Given the description of an element on the screen output the (x, y) to click on. 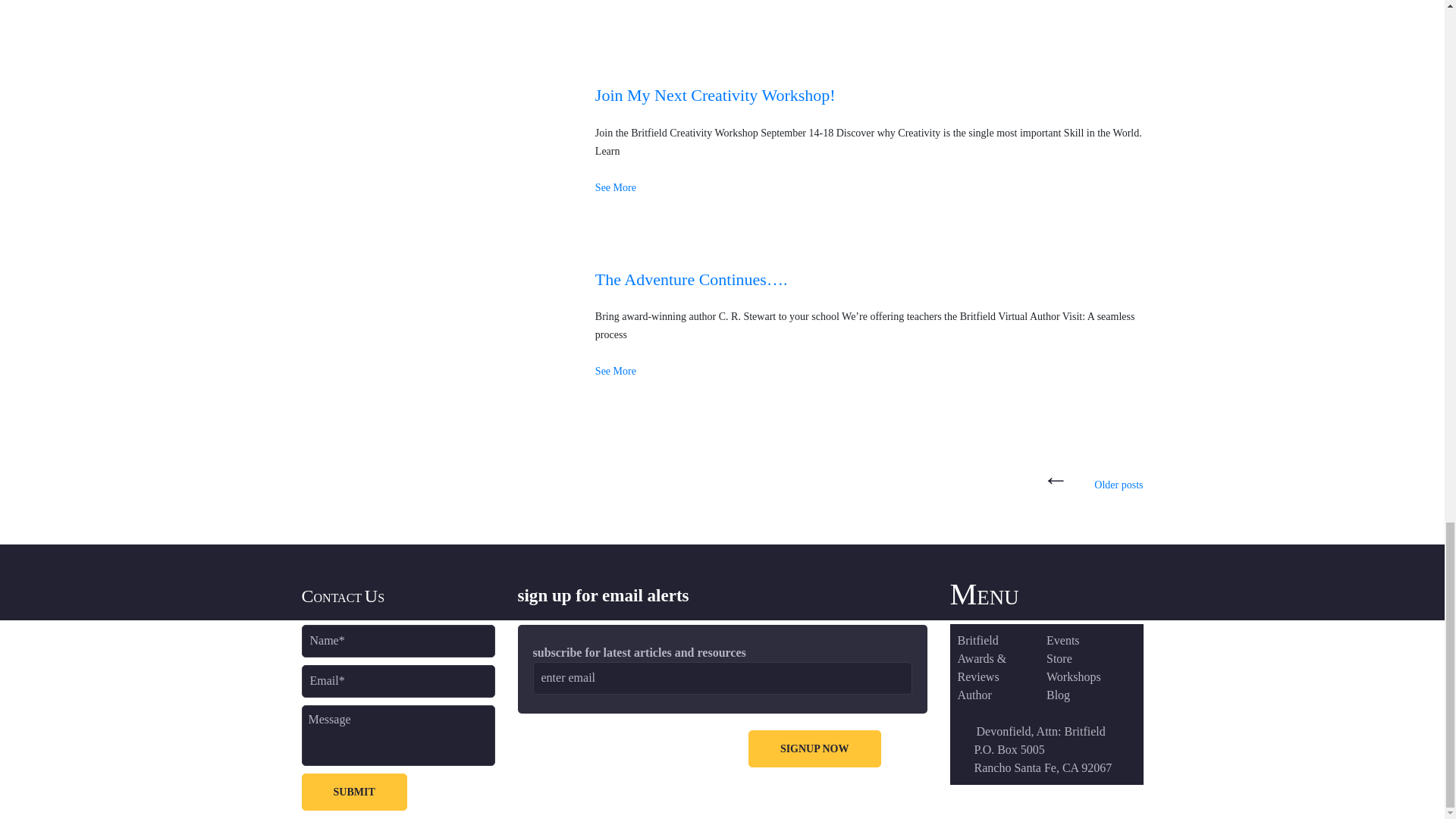
Join My Next Creativity Workshop! (715, 94)
Signup Now (814, 748)
Submit (354, 791)
See More (615, 187)
